Given the description of an element on the screen output the (x, y) to click on. 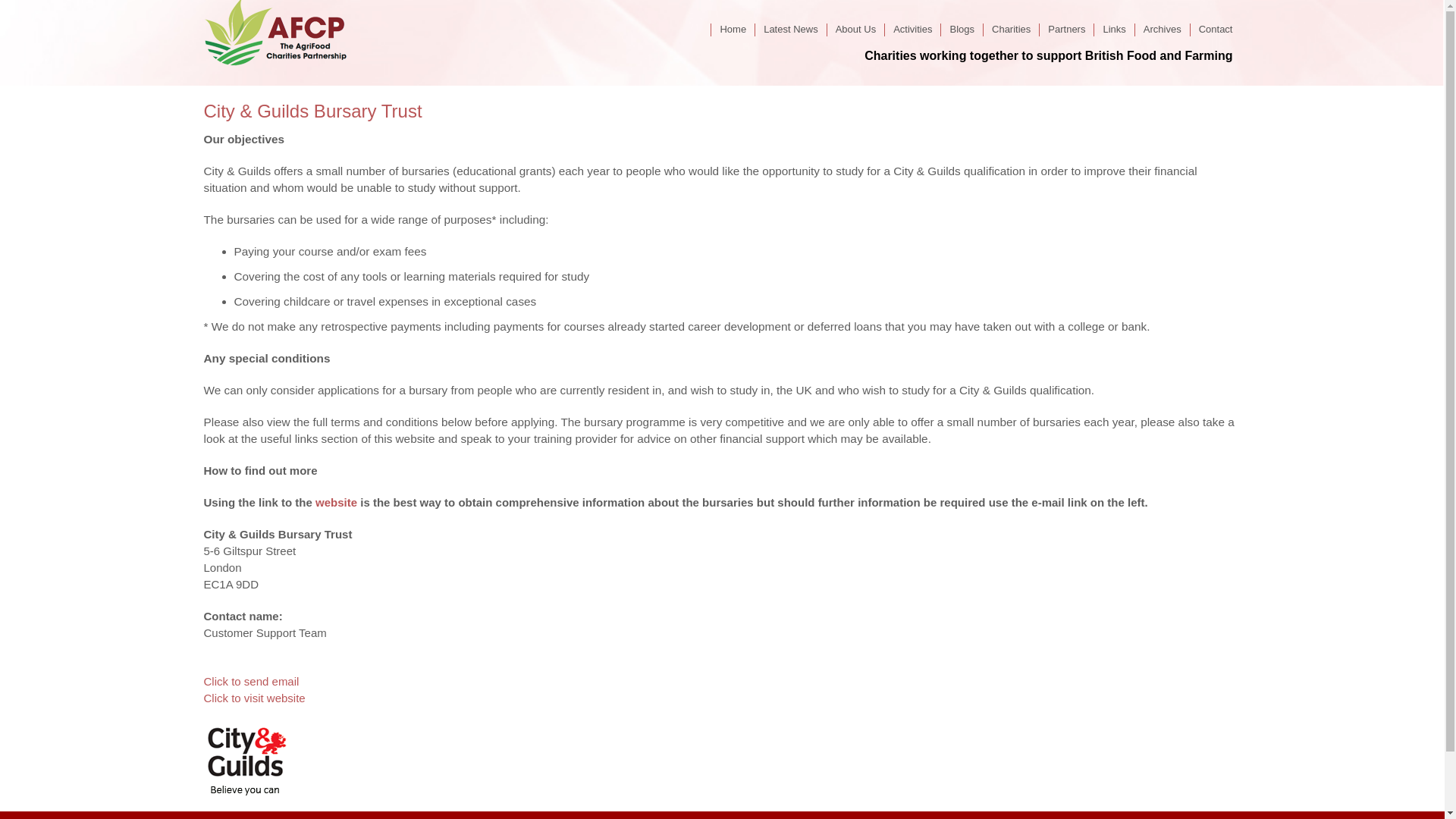
Home (732, 28)
Blogs (961, 28)
Charities (1010, 28)
Links (1113, 28)
Latest News (790, 28)
Contact (1215, 28)
Blogs (961, 28)
Partners (1066, 28)
website (335, 502)
